Given the description of an element on the screen output the (x, y) to click on. 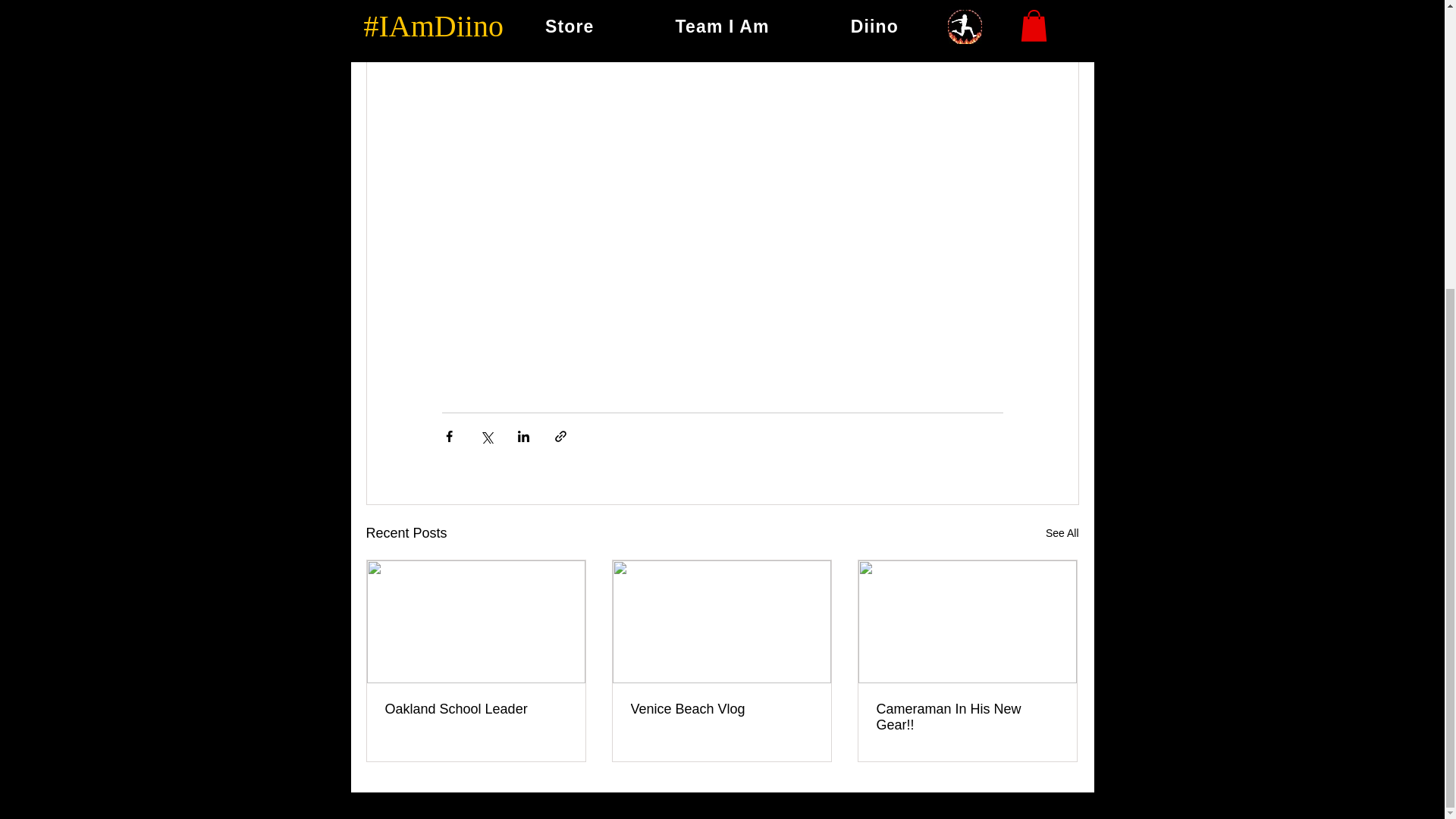
Oakland School Leader (476, 709)
Venice Beach Vlog (721, 709)
Cameraman In His New Gear!! (967, 717)
See All (1061, 533)
